Given the description of an element on the screen output the (x, y) to click on. 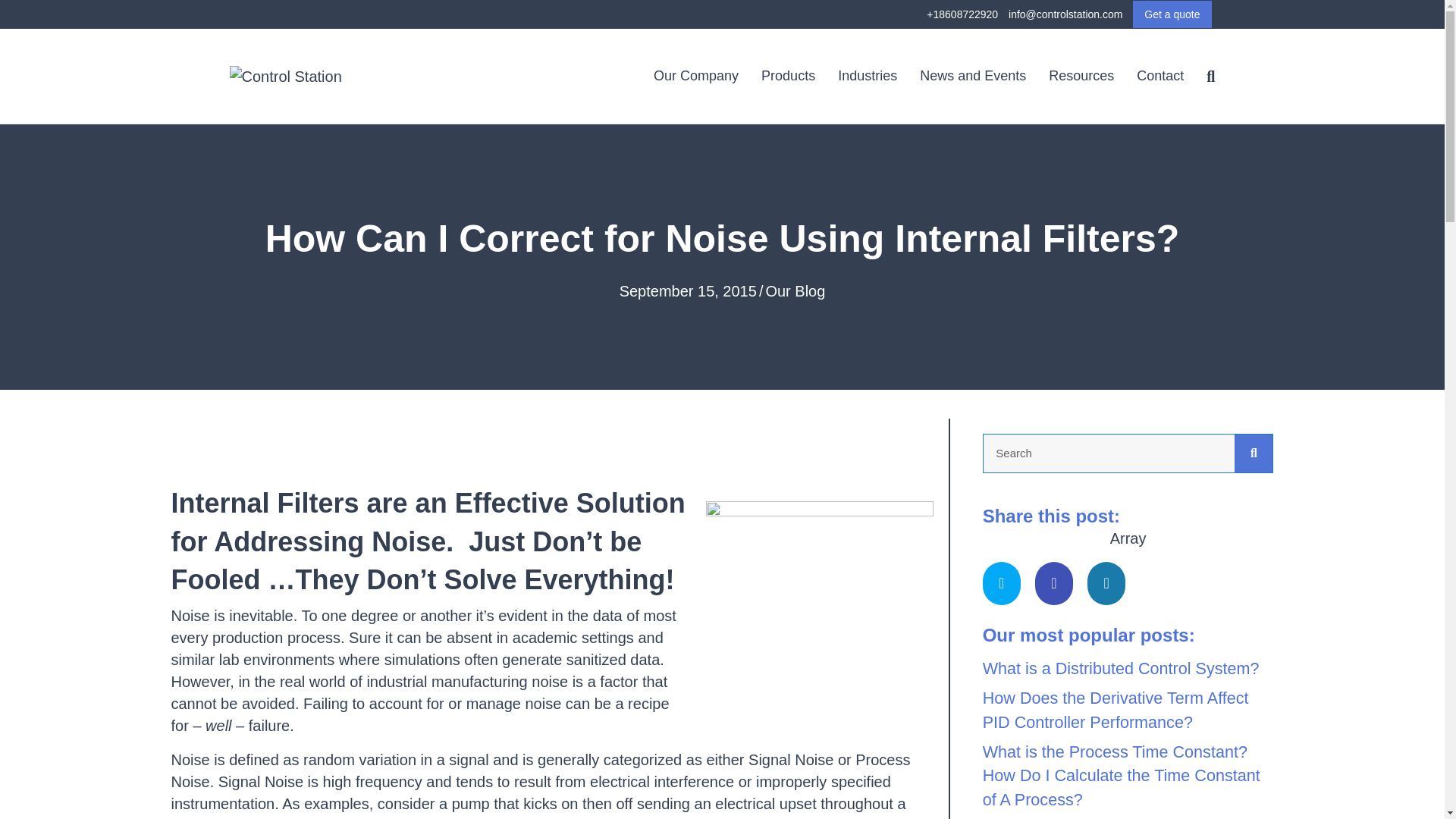
Industries (867, 76)
News and Events (972, 76)
Contact (1160, 76)
Our Company (695, 76)
Get a quote (1171, 13)
Our Blog (795, 290)
Search (1109, 453)
Resources (1080, 76)
Products (788, 76)
